Given the description of an element on the screen output the (x, y) to click on. 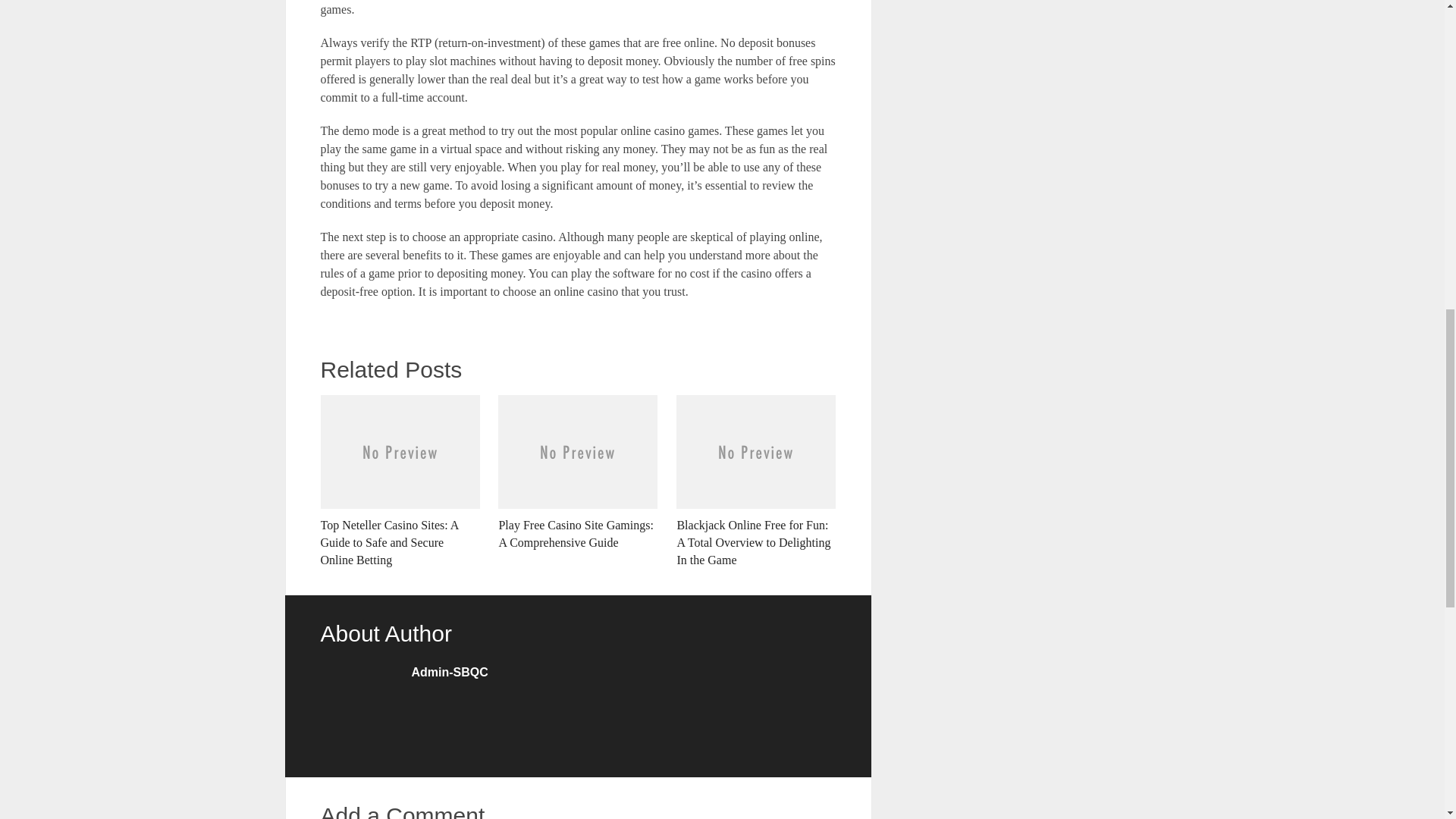
Play Free Casino Site Gamings: A Comprehensive Guide (577, 472)
Play Free Casino Site Gamings: A Comprehensive Guide (577, 472)
